Given the description of an element on the screen output the (x, y) to click on. 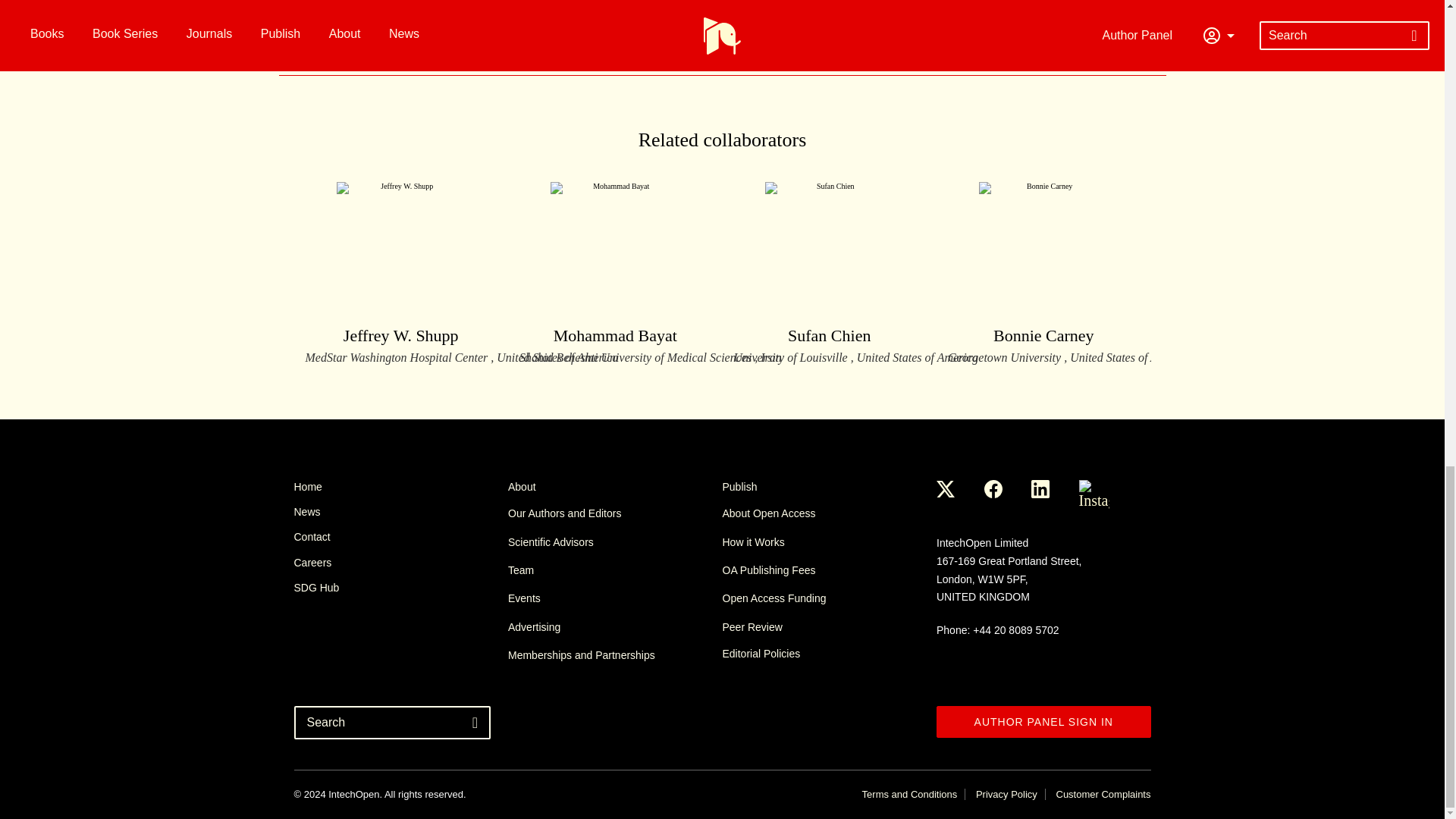
About (615, 486)
Recent Advances in Wound Healing (595, 15)
Careers (401, 562)
Contact (401, 536)
Home (401, 486)
SDG Hub (401, 587)
News (401, 511)
